Given the description of an element on the screen output the (x, y) to click on. 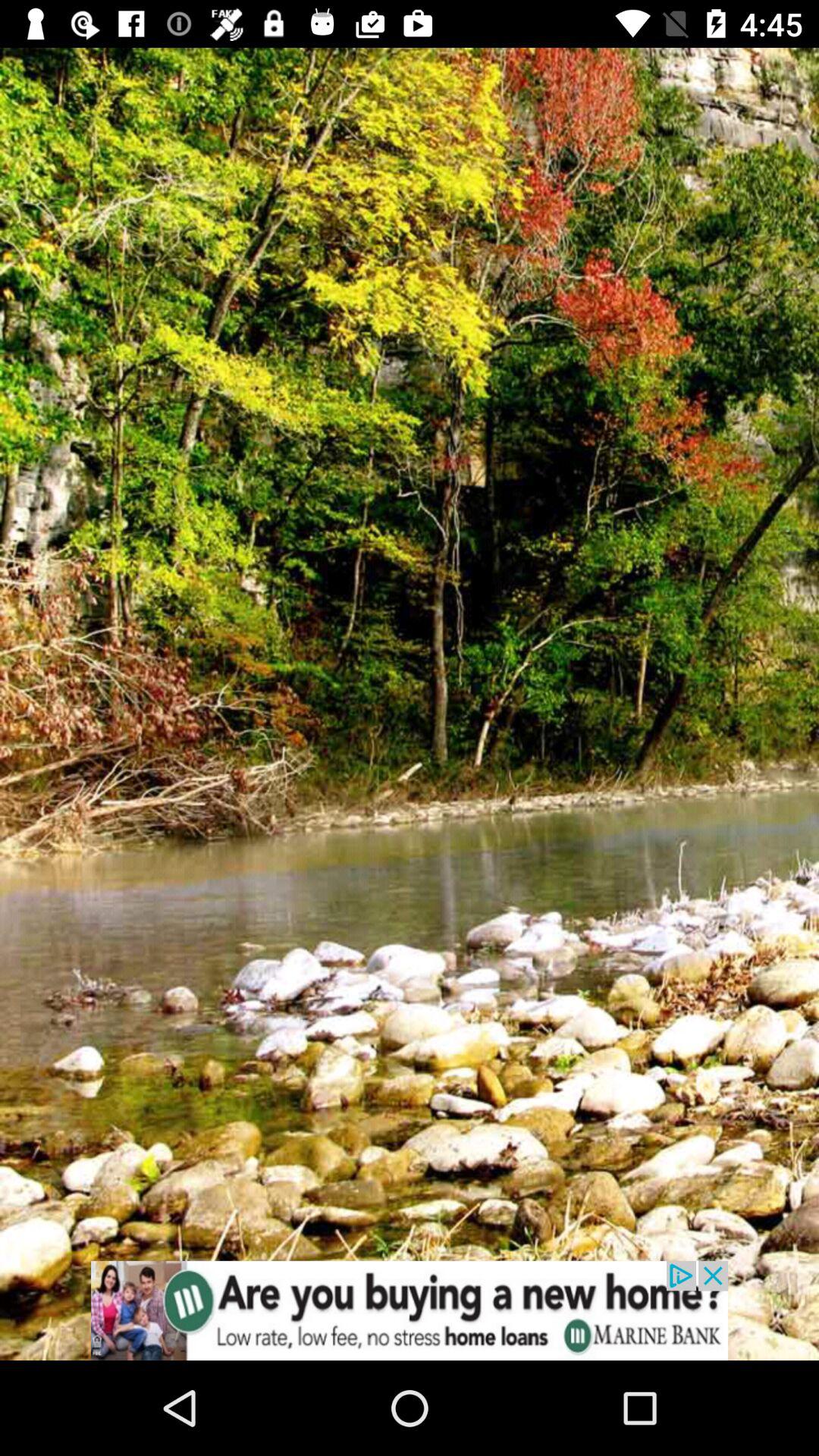
advertisements about buying home (409, 1310)
